Given the description of an element on the screen output the (x, y) to click on. 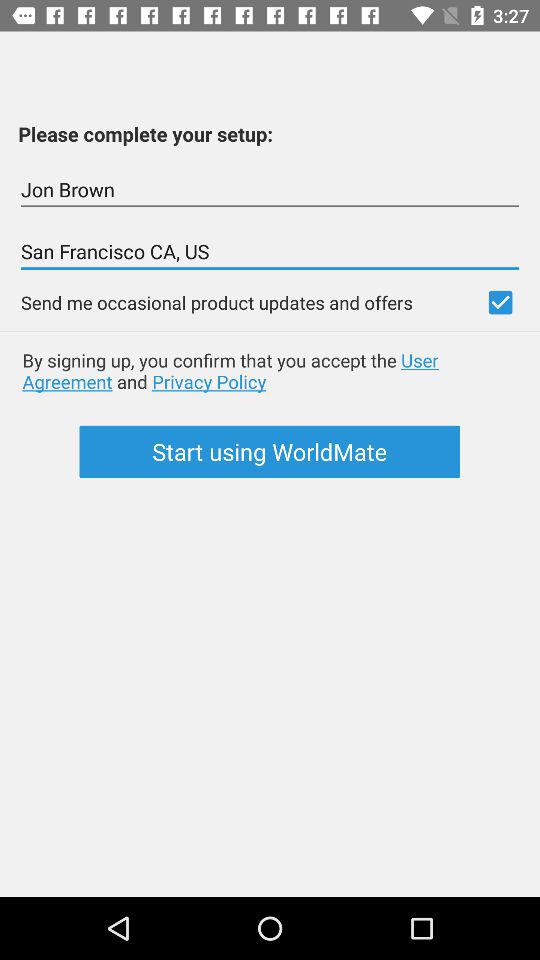
blue check mark (500, 302)
